Given the description of an element on the screen output the (x, y) to click on. 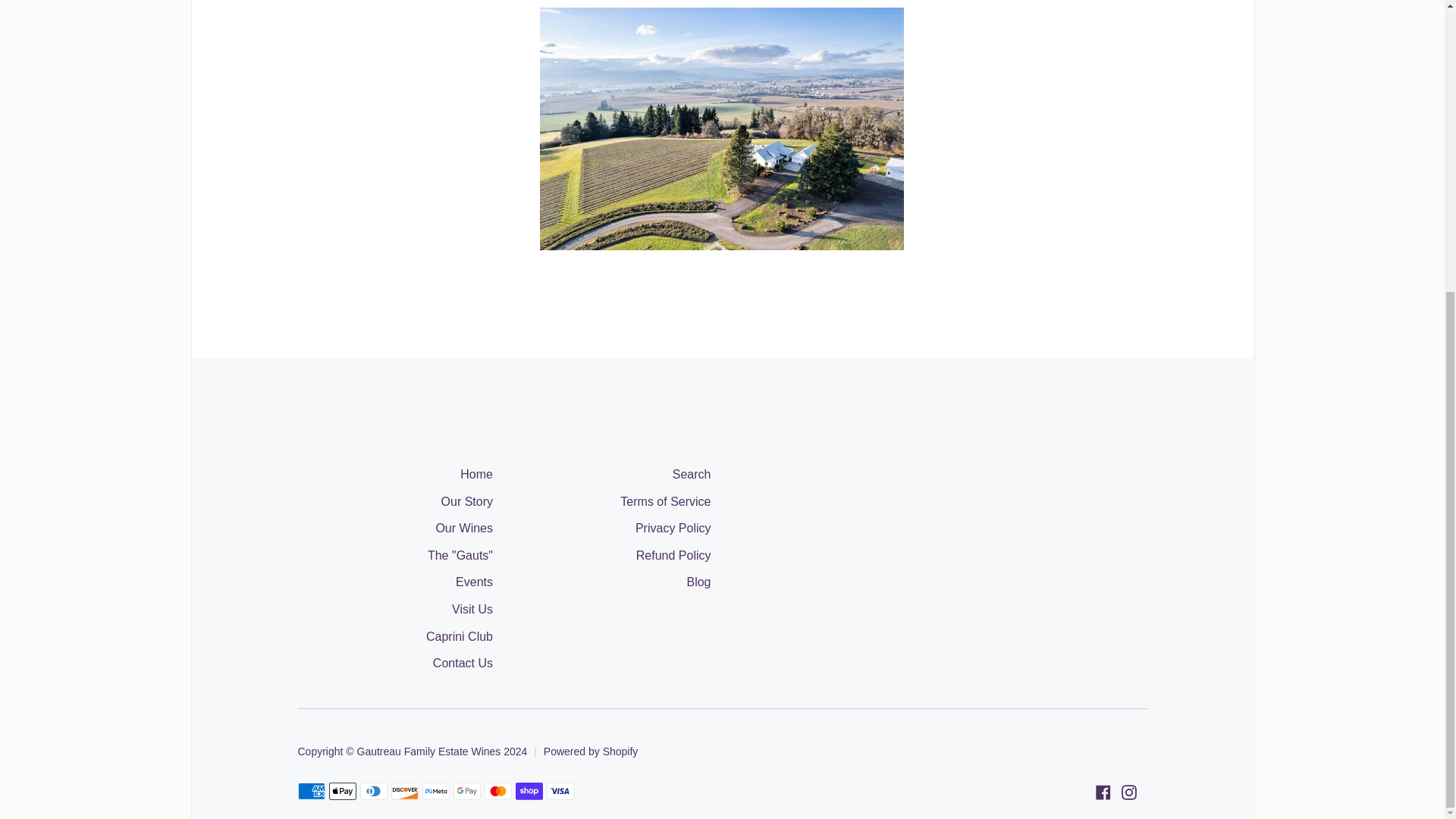
Contact Us (462, 664)
The "Gauts" (460, 556)
Events (474, 583)
Home (476, 475)
Caprini Club (459, 637)
Our Wines (464, 529)
Search (691, 475)
Terms of Service (665, 503)
Visit Us (472, 610)
Our Story (467, 503)
